Given the description of an element on the screen output the (x, y) to click on. 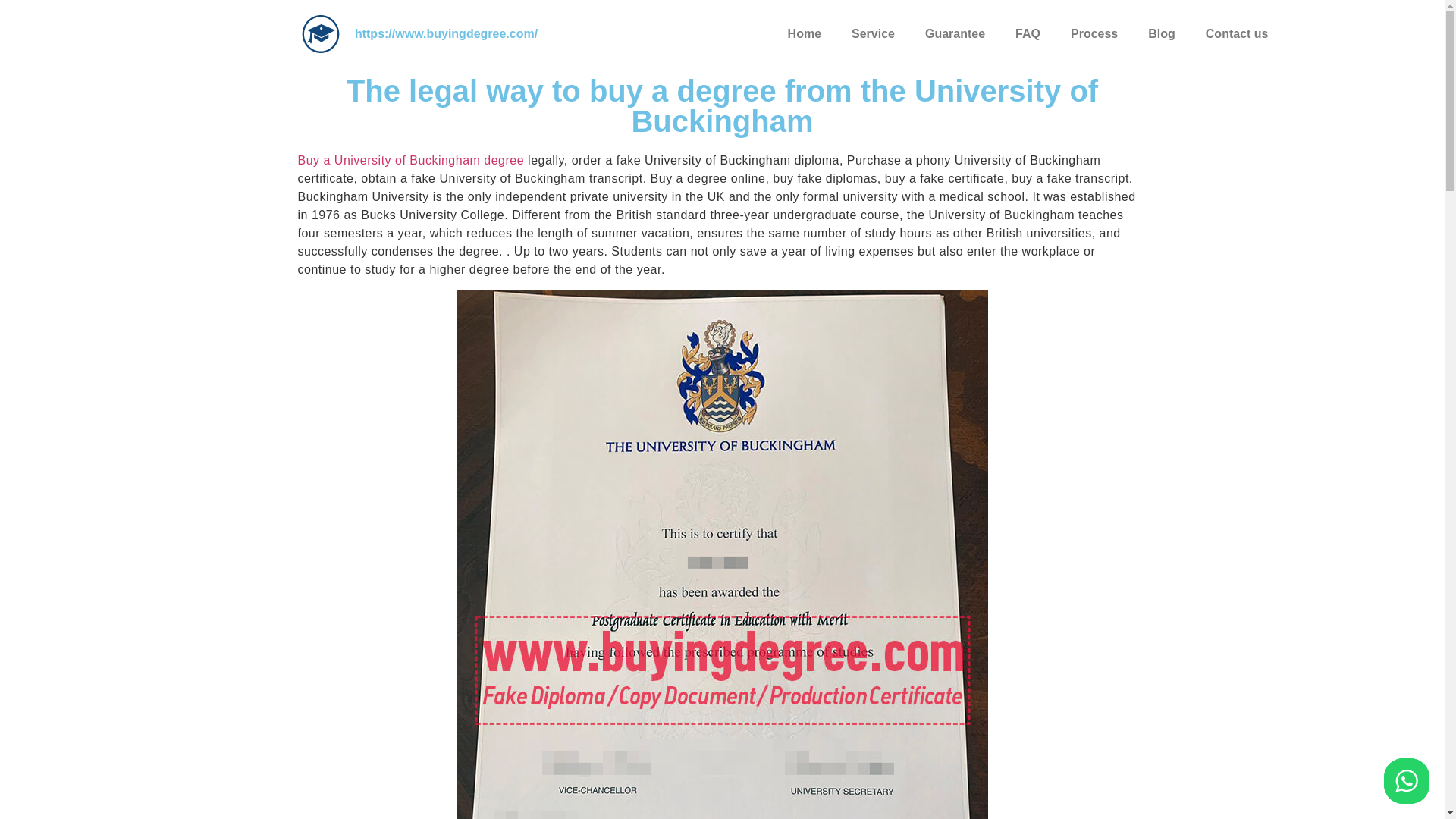
Contact us (1237, 33)
buy fake diploma (320, 34)
FAQ (1027, 33)
Buy a University of Buckingham degree (410, 160)
Process (1093, 33)
Blog (1161, 33)
Home (804, 33)
Service (872, 33)
Guarantee (955, 33)
